Given the description of an element on the screen output the (x, y) to click on. 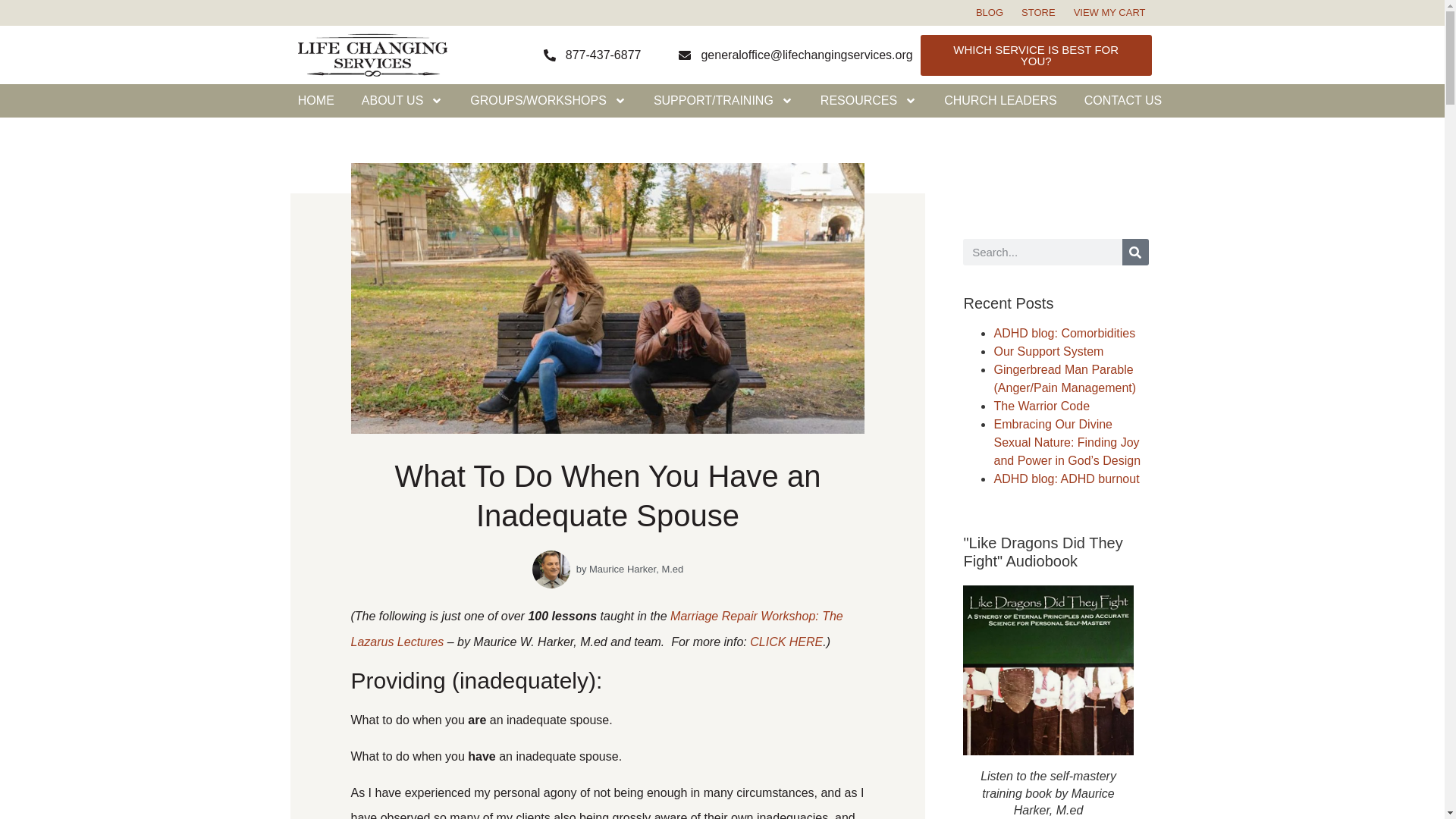
HOME (315, 100)
VIEW MY CART (1109, 14)
WHICH SERVICE IS BEST FOR YOU? (1035, 55)
877-437-6877 (592, 54)
STORE (1037, 14)
BLOG (988, 14)
ABOUT US (402, 100)
